Given the description of an element on the screen output the (x, y) to click on. 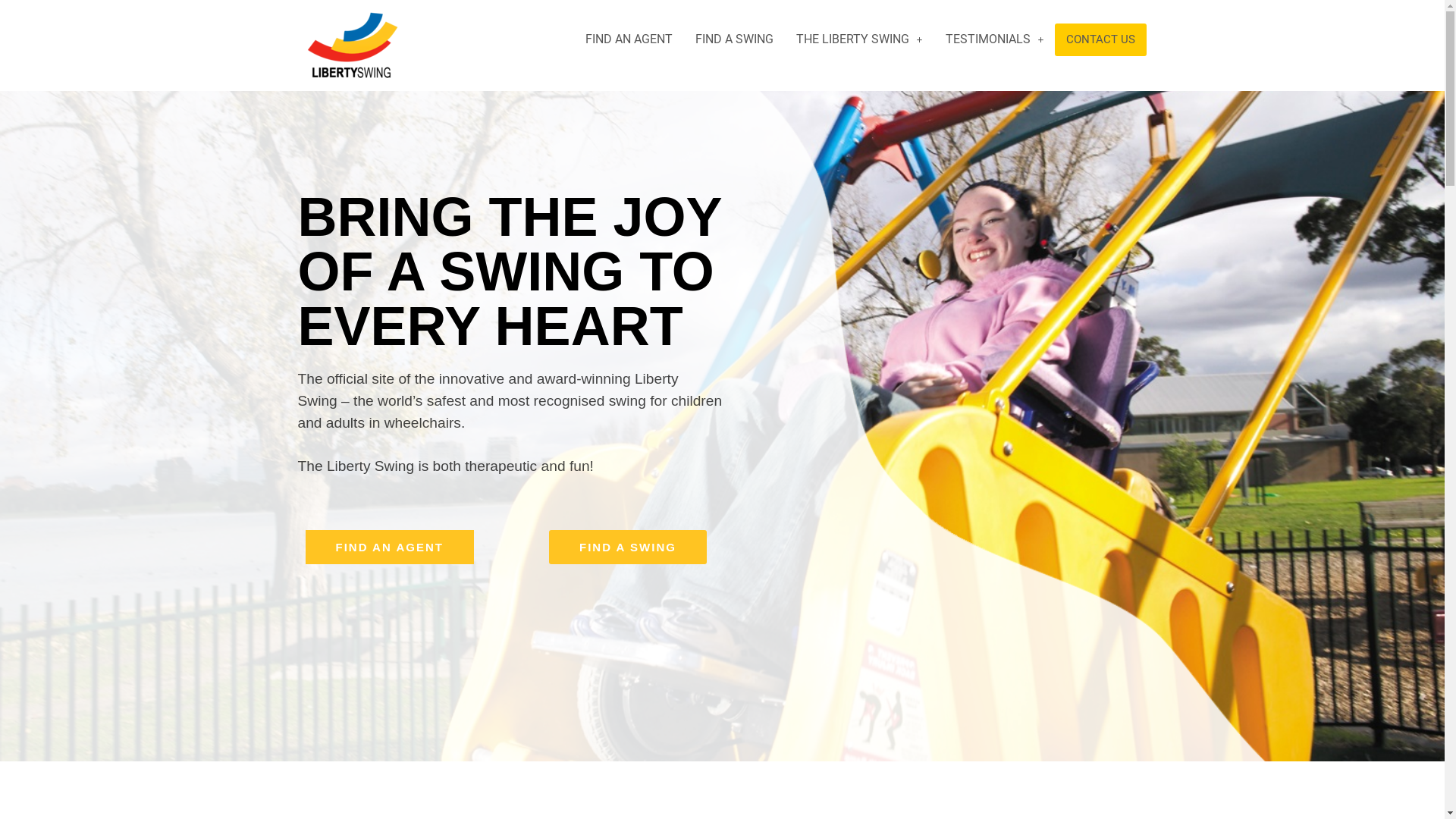
THE LIBERTY SWING Element type: text (859, 39)
FIND AN AGENT Element type: text (629, 39)
TESTIMONIALS Element type: text (994, 39)
FIND AN AGENT Element type: text (388, 547)
CONTACT US Element type: text (1100, 38)
FIND A SWING Element type: text (627, 547)
FIND A SWING Element type: text (734, 39)
